Given the description of an element on the screen output the (x, y) to click on. 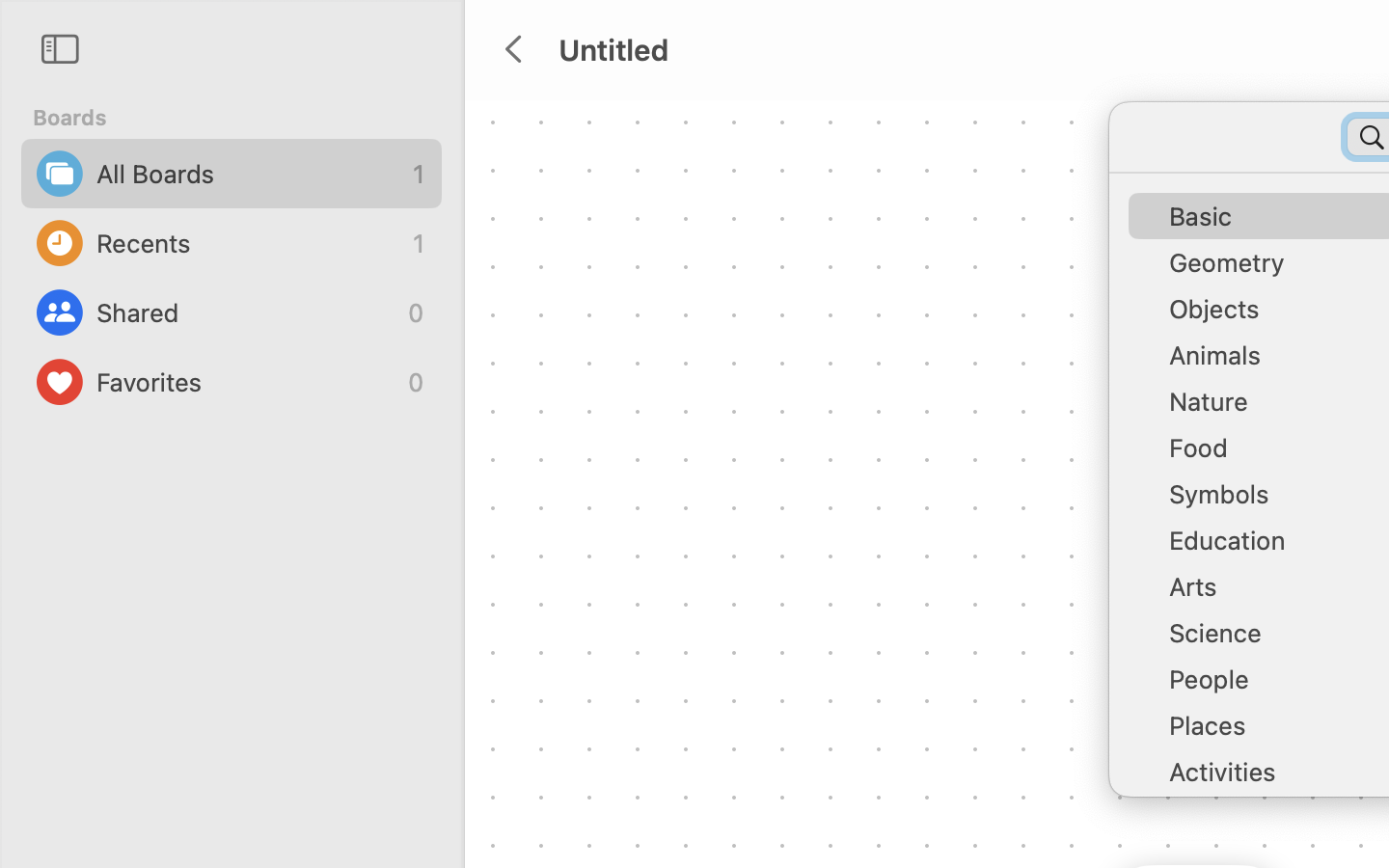
People Element type: AXStaticText (1273, 686)
Food Element type: AXStaticText (1273, 455)
Nature Element type: AXStaticText (1273, 408)
